Given the description of an element on the screen output the (x, y) to click on. 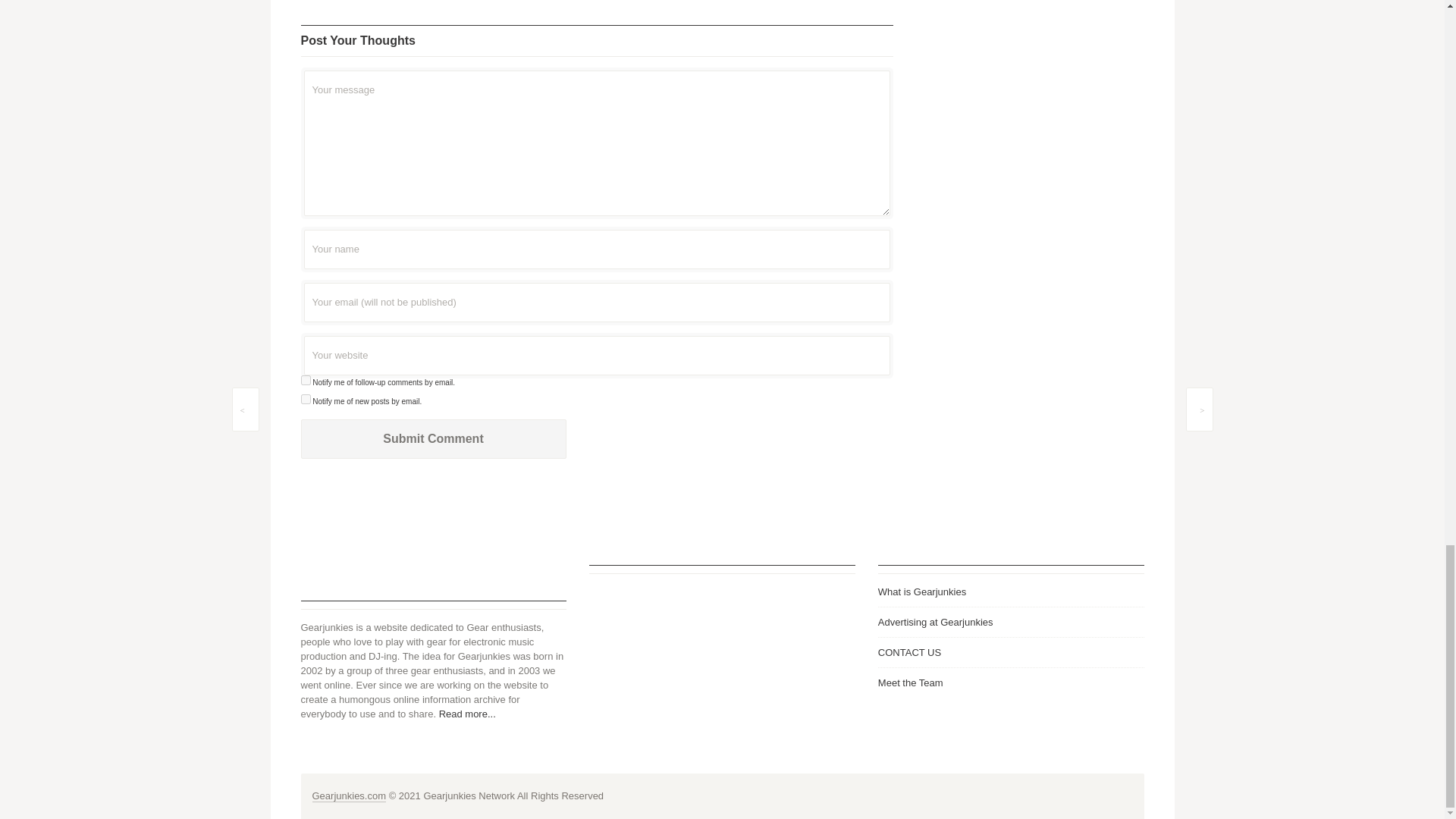
subscribe (304, 379)
Submit Comment (432, 438)
subscribe (304, 398)
